Given the description of an element on the screen output the (x, y) to click on. 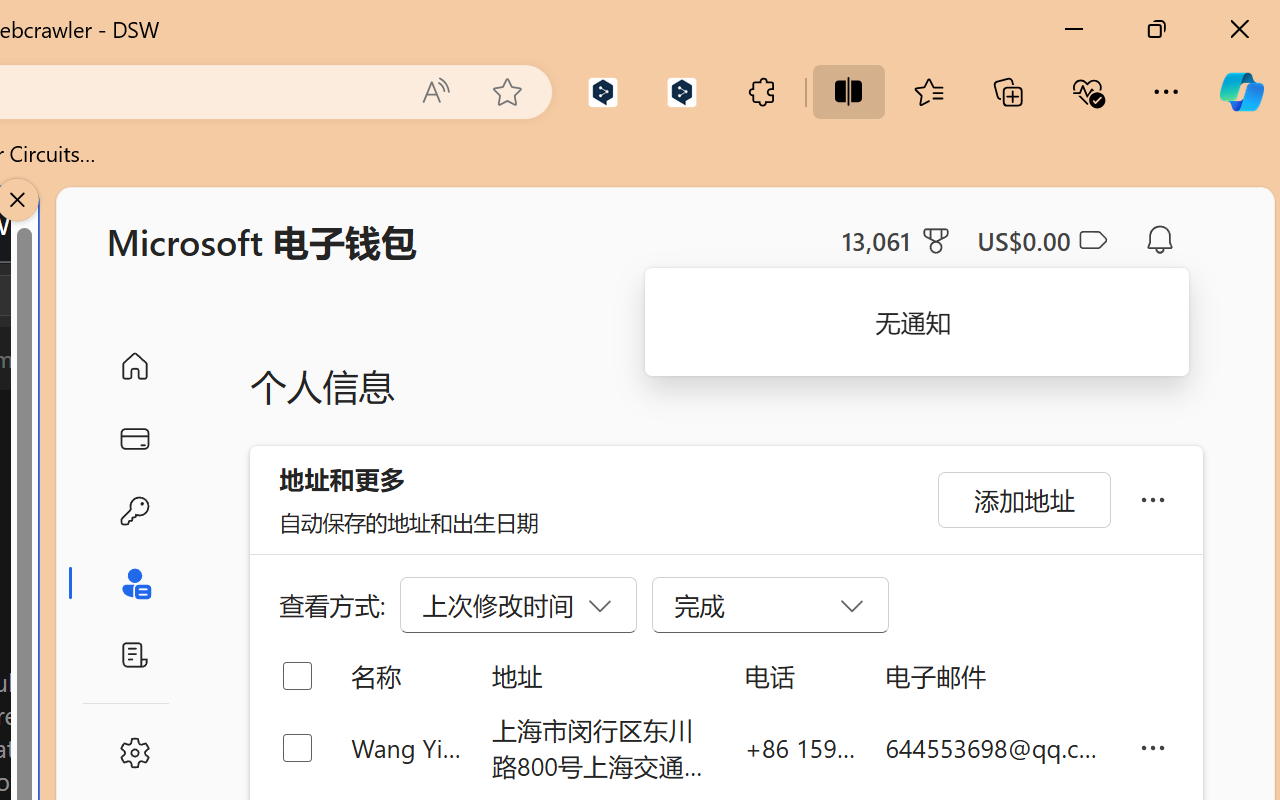
Wang Yian (406, 747)
Class: ___1lmltc5 f1agt3bx f12qytpq (1092, 241)
